Given the description of an element on the screen output the (x, y) to click on. 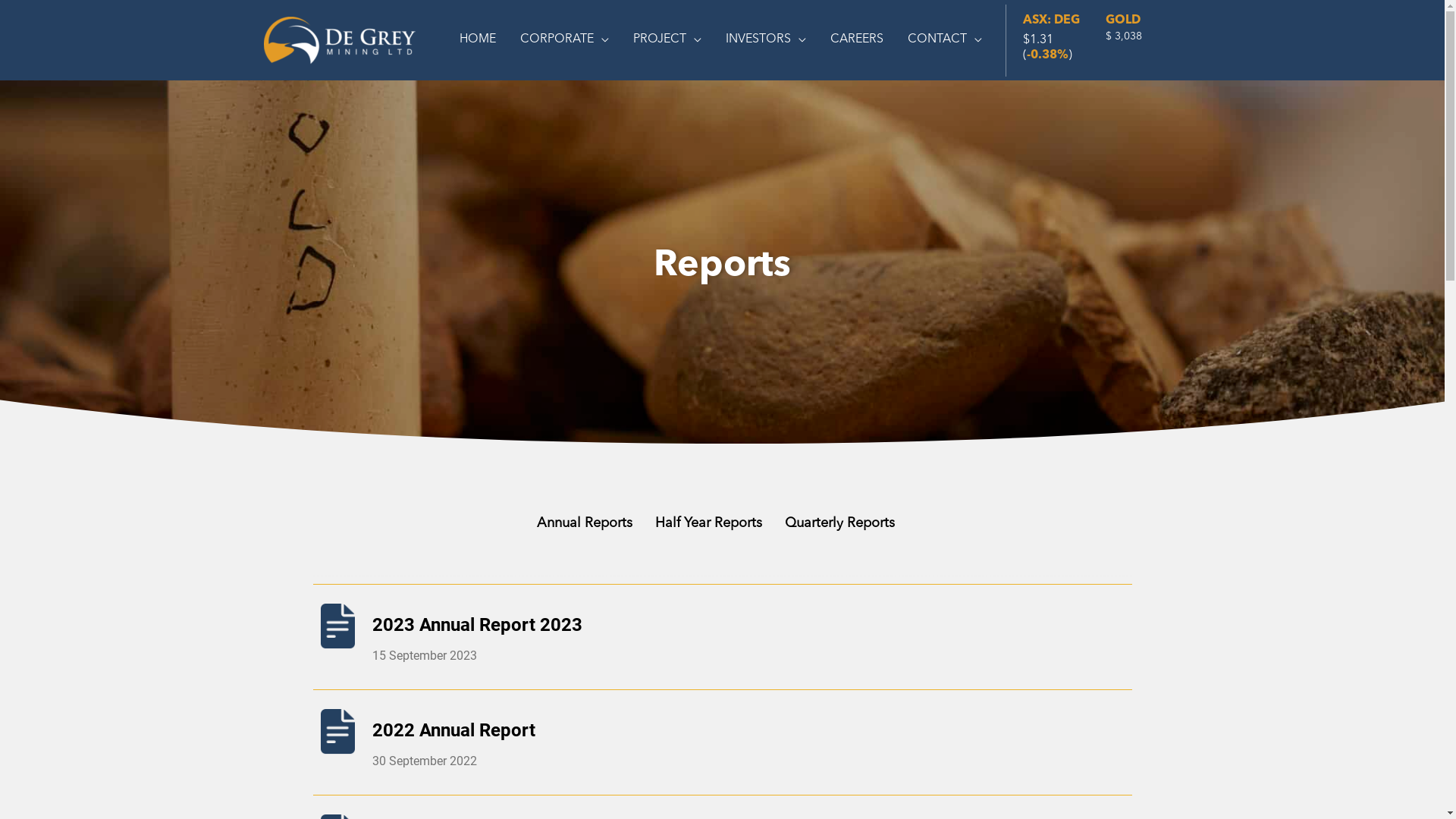
Search Element type: text (52, 18)
INVESTORS Element type: text (764, 40)
CAREERS Element type: text (855, 40)
PROJECT Element type: text (666, 40)
2022 Annual Report
30 September 2022 Element type: text (721, 741)
2023 Annual Report 2023
15 September 2023 Element type: text (721, 636)
CONTACT Element type: text (943, 40)
HOME Element type: text (477, 40)
CORPORATE Element type: text (564, 40)
